Given the description of an element on the screen output the (x, y) to click on. 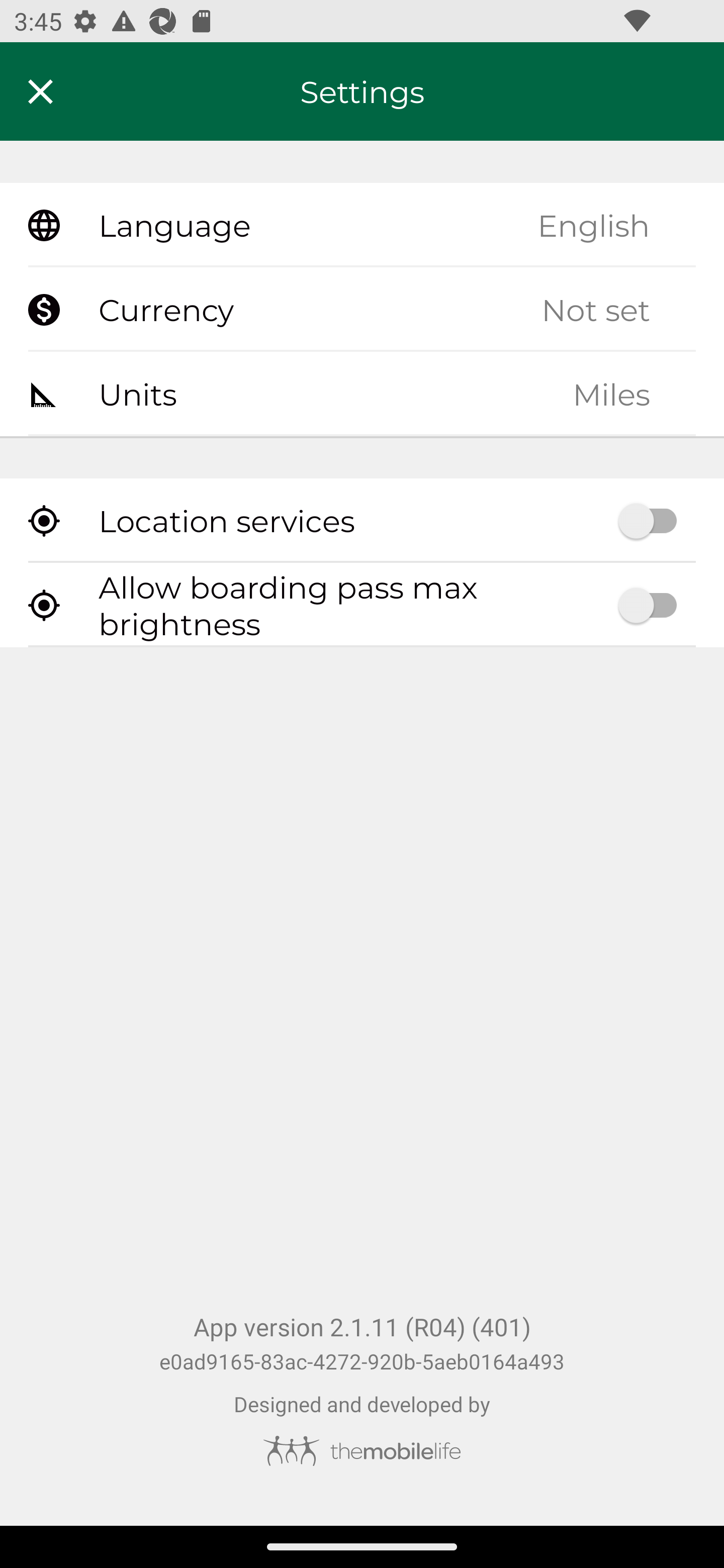
Language English (362, 225)
Currency Not set (362, 309)
Units Miles (362, 393)
Location services (362, 520)
Allow boarding pass max brightness (362, 604)
